Given the description of an element on the screen output the (x, y) to click on. 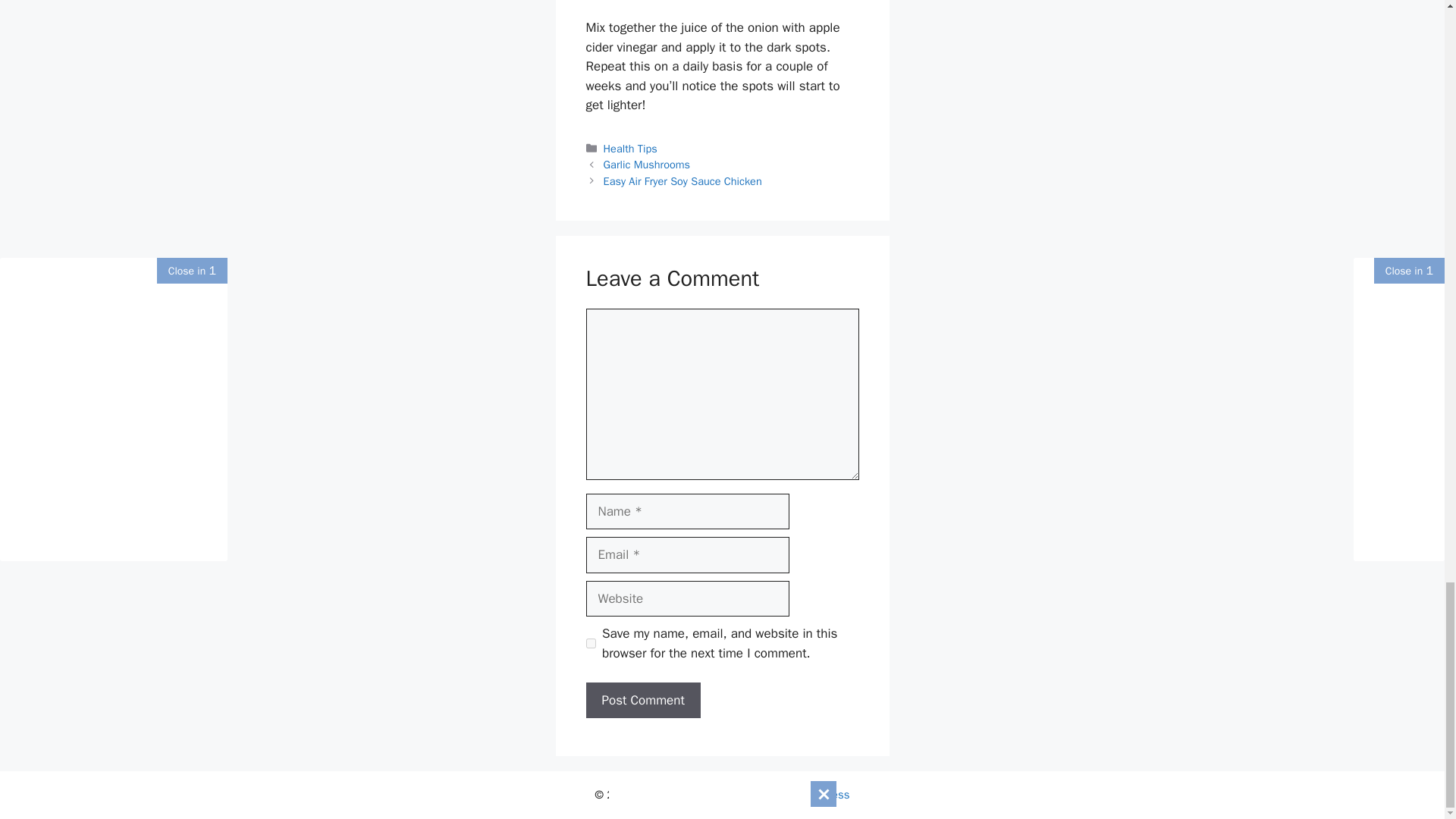
GeneratePress (813, 794)
Easy Air Fryer Soy Sauce Chicken (682, 181)
Health Tips (631, 148)
Post Comment (642, 700)
Post Comment (642, 700)
yes (590, 643)
Garlic Mushrooms (647, 164)
